Given the description of an element on the screen output the (x, y) to click on. 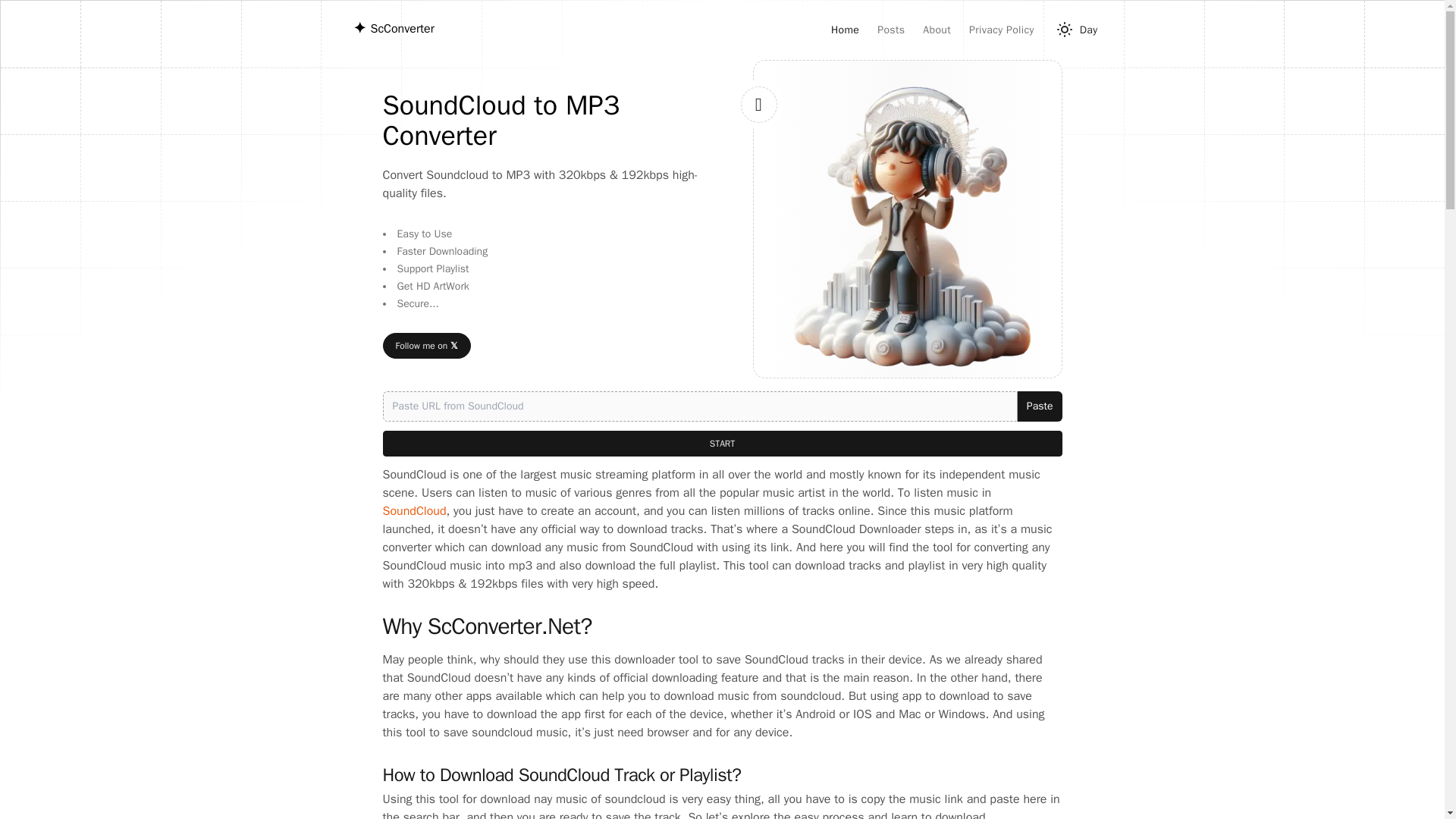
SoundCloud (413, 510)
Posts (890, 29)
START (721, 443)
Home (844, 29)
Paste (1039, 406)
Privacy Policy (1001, 29)
About (936, 29)
